Given the description of an element on the screen output the (x, y) to click on. 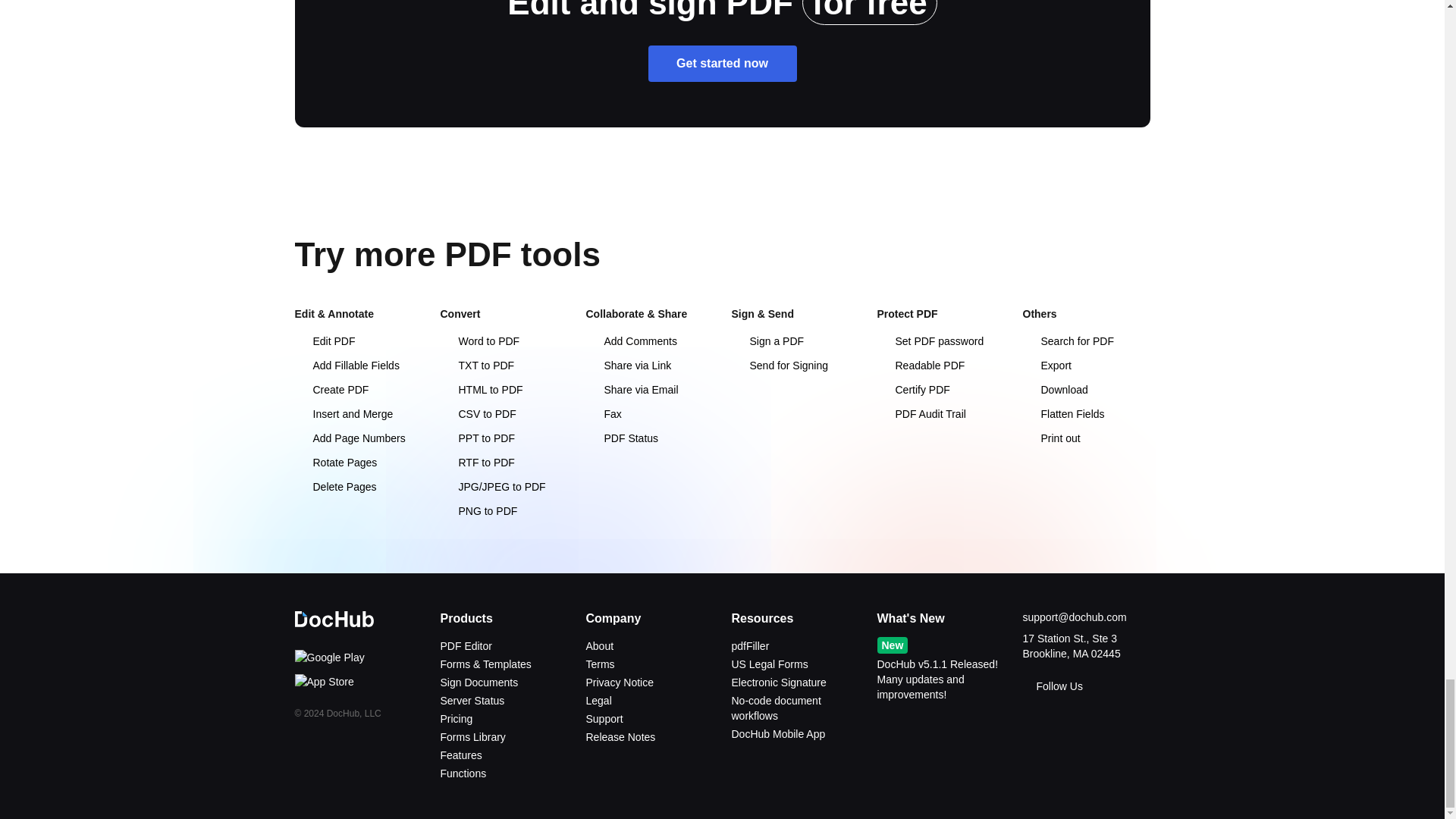
Fax (603, 413)
Get started now (721, 63)
Share via Email (631, 389)
Share via Link (628, 365)
Edit PDF (324, 340)
Add Page Numbers (349, 438)
PNG to PDF (477, 510)
PDF Status (621, 438)
CSV to PDF (477, 413)
Add Comments (631, 340)
